Given the description of an element on the screen output the (x, y) to click on. 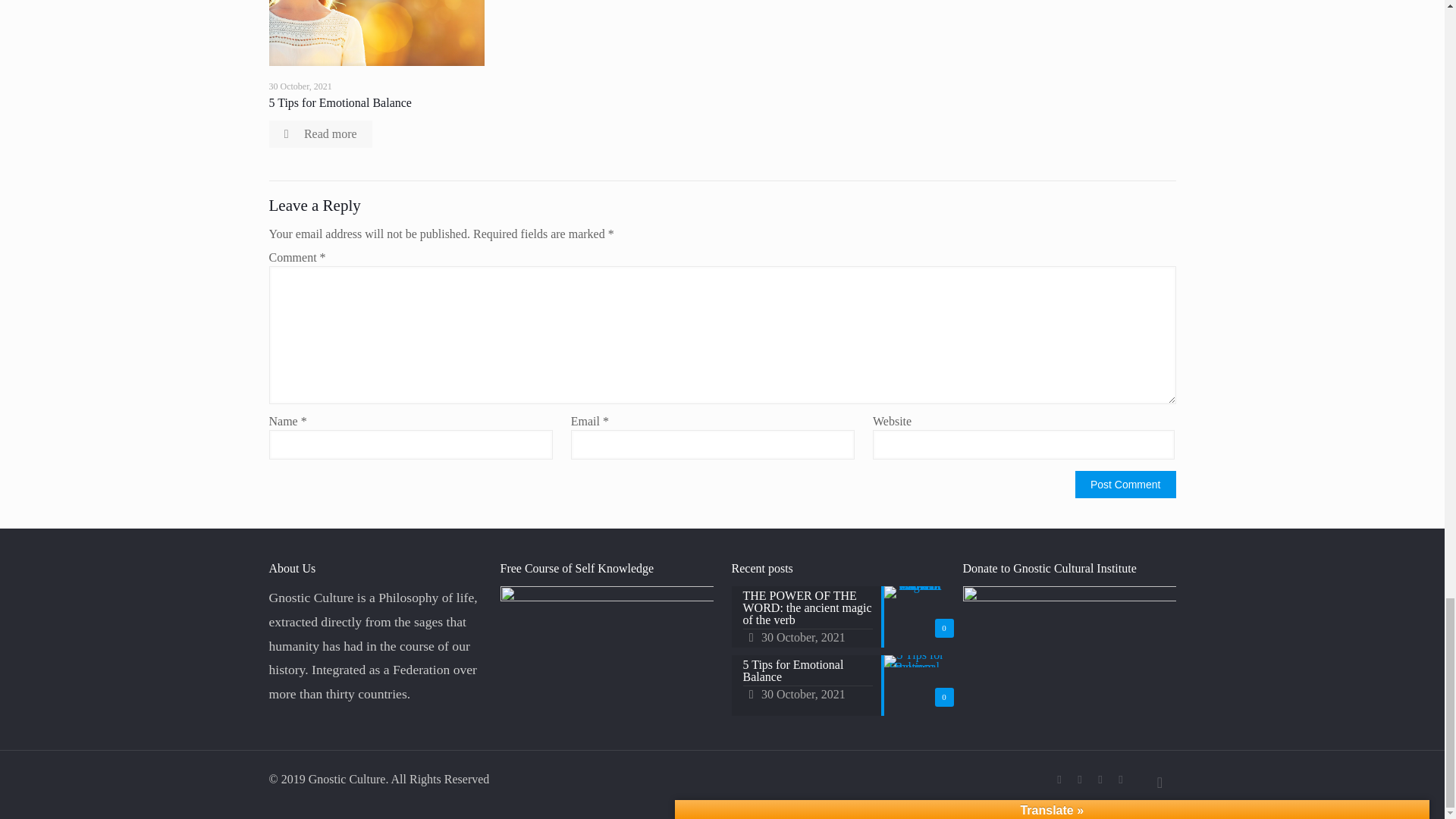
Instagram (1100, 779)
Post Comment (1125, 483)
Free Course of Self Knowledge (606, 644)
Twitter (1079, 779)
5 Tips for Emotional Balance (338, 102)
Facebook (1059, 779)
Read more (319, 134)
